Given the description of an element on the screen output the (x, y) to click on. 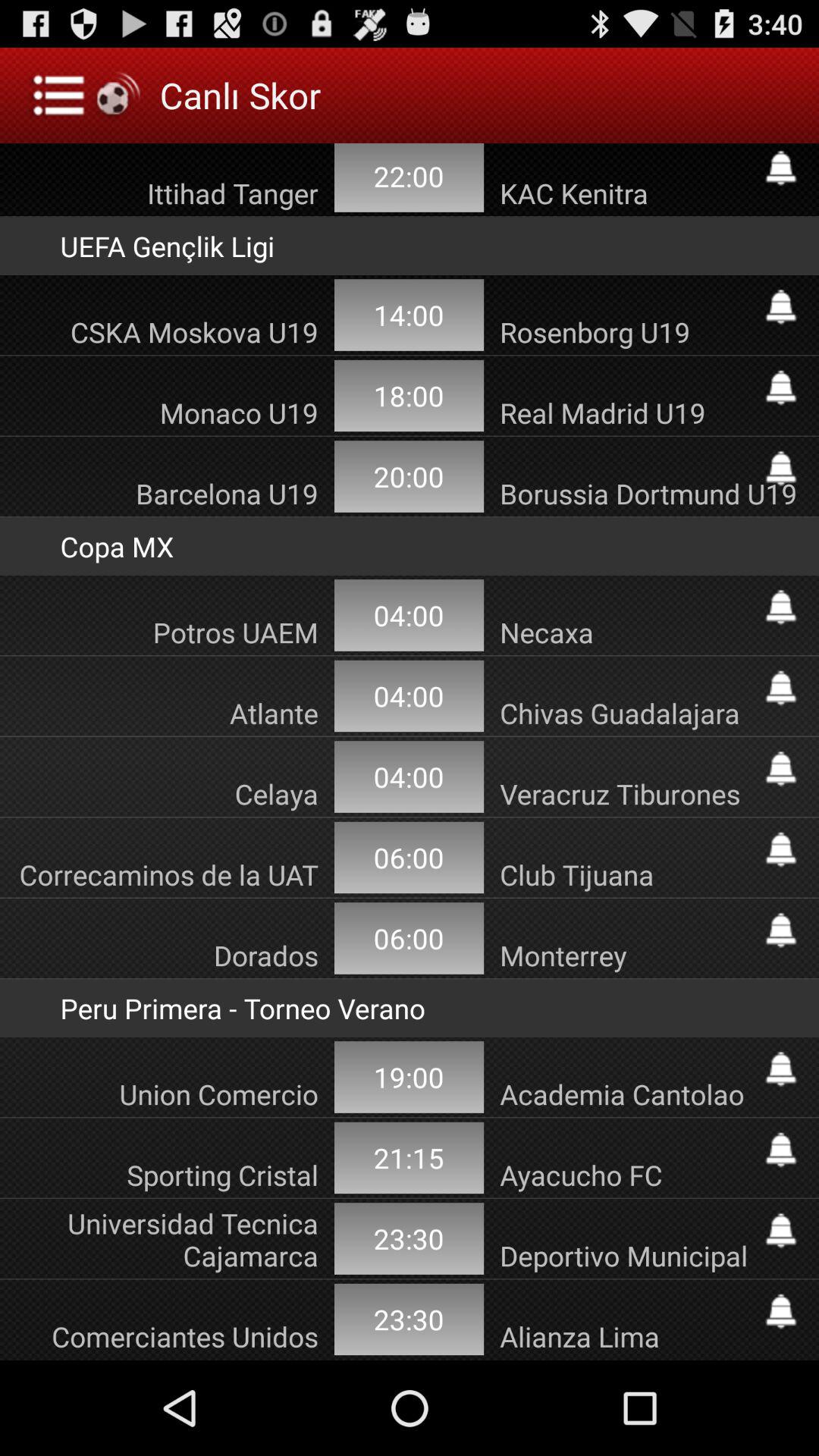
click to subscribe (780, 1149)
